Given the description of an element on the screen output the (x, y) to click on. 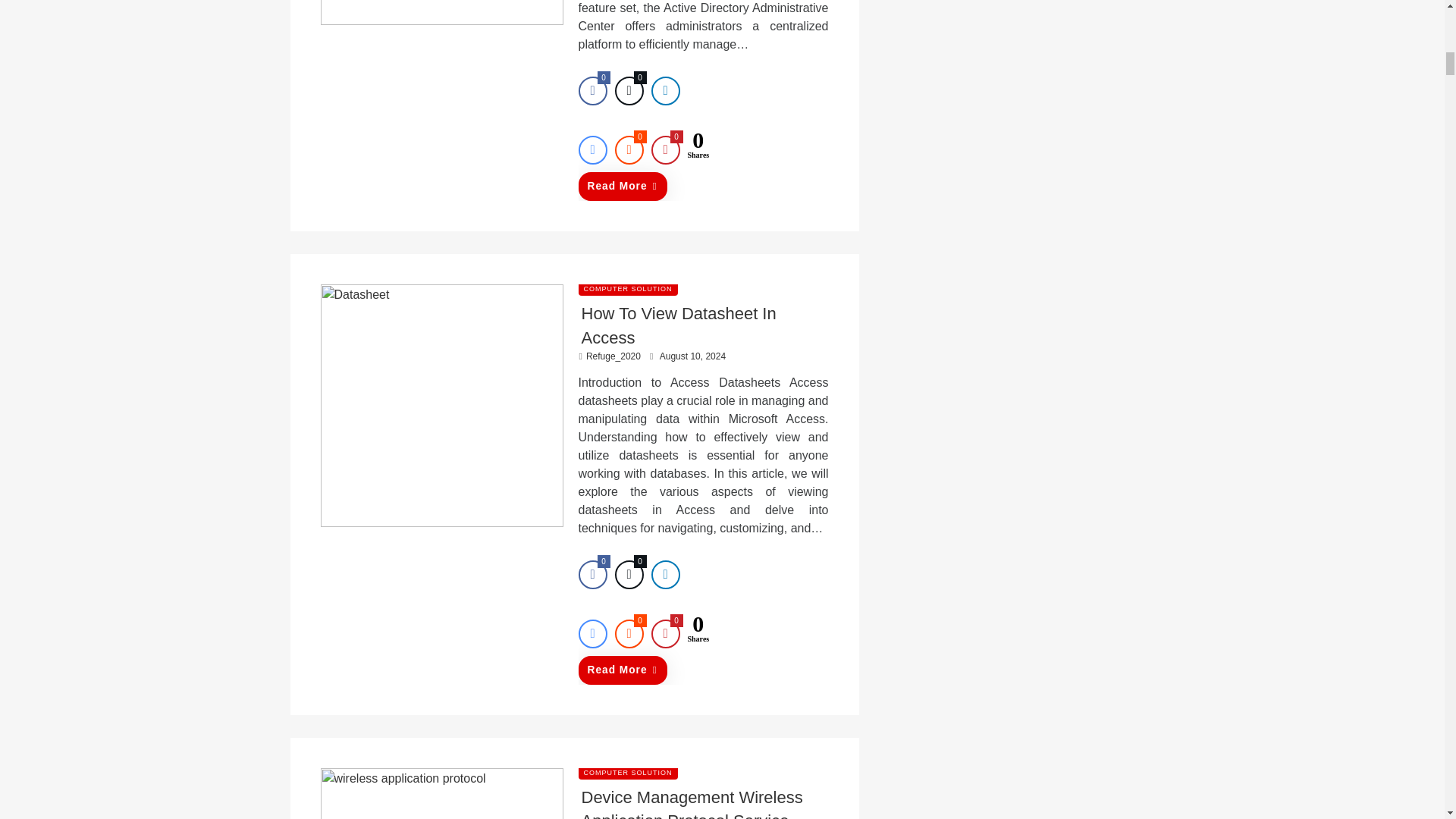
Device Management Wireless Application Protocol Service 7 (441, 793)
How To Use Active Directory Administrative Center 5 (441, 12)
How To View Datasheet In Access 6 (441, 405)
